Given the description of an element on the screen output the (x, y) to click on. 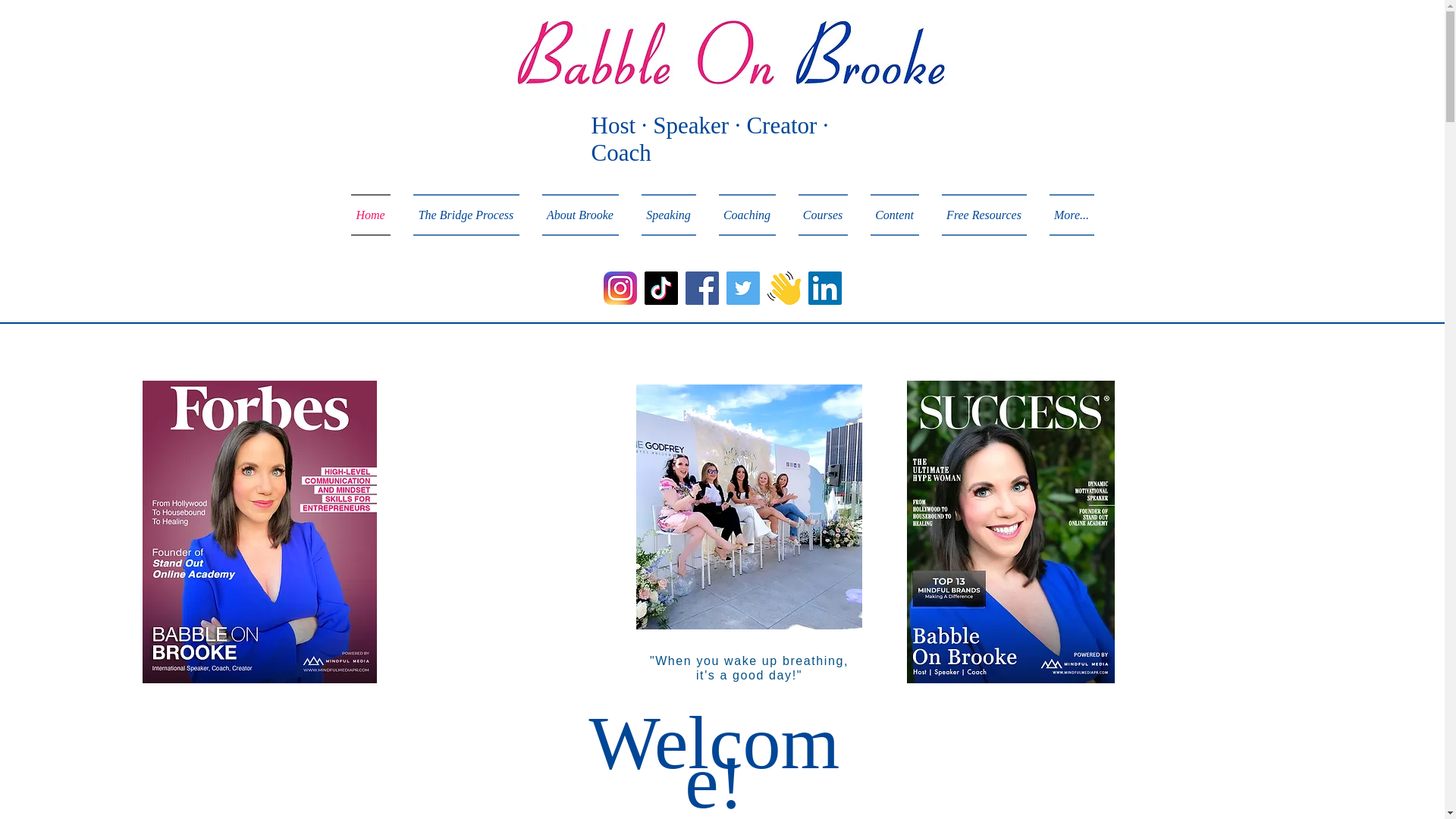
Speaking (667, 214)
About Brooke (580, 214)
Courses (823, 214)
Content (894, 214)
Home (375, 214)
Coaching (746, 214)
Free Resources (983, 214)
The Bridge Process (466, 214)
